Given the description of an element on the screen output the (x, y) to click on. 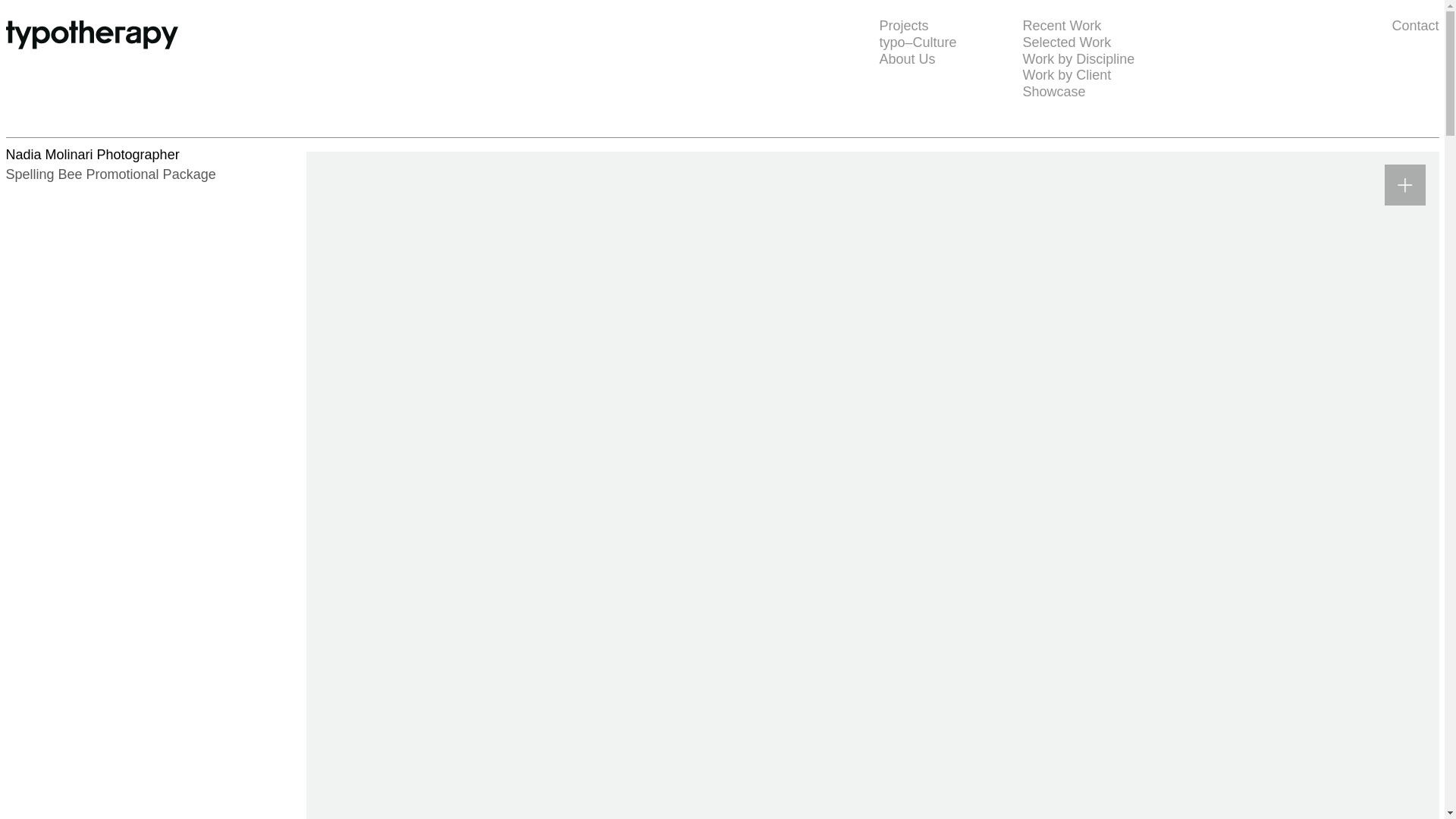
About Us (907, 58)
Projects (903, 25)
Recent Work (1061, 25)
Work by Client (1066, 74)
Projects (903, 25)
Work by Discipline (1078, 58)
Selected Work (1066, 42)
About Us (907, 58)
Showcase (1053, 91)
Contact (1296, 26)
